Given the description of an element on the screen output the (x, y) to click on. 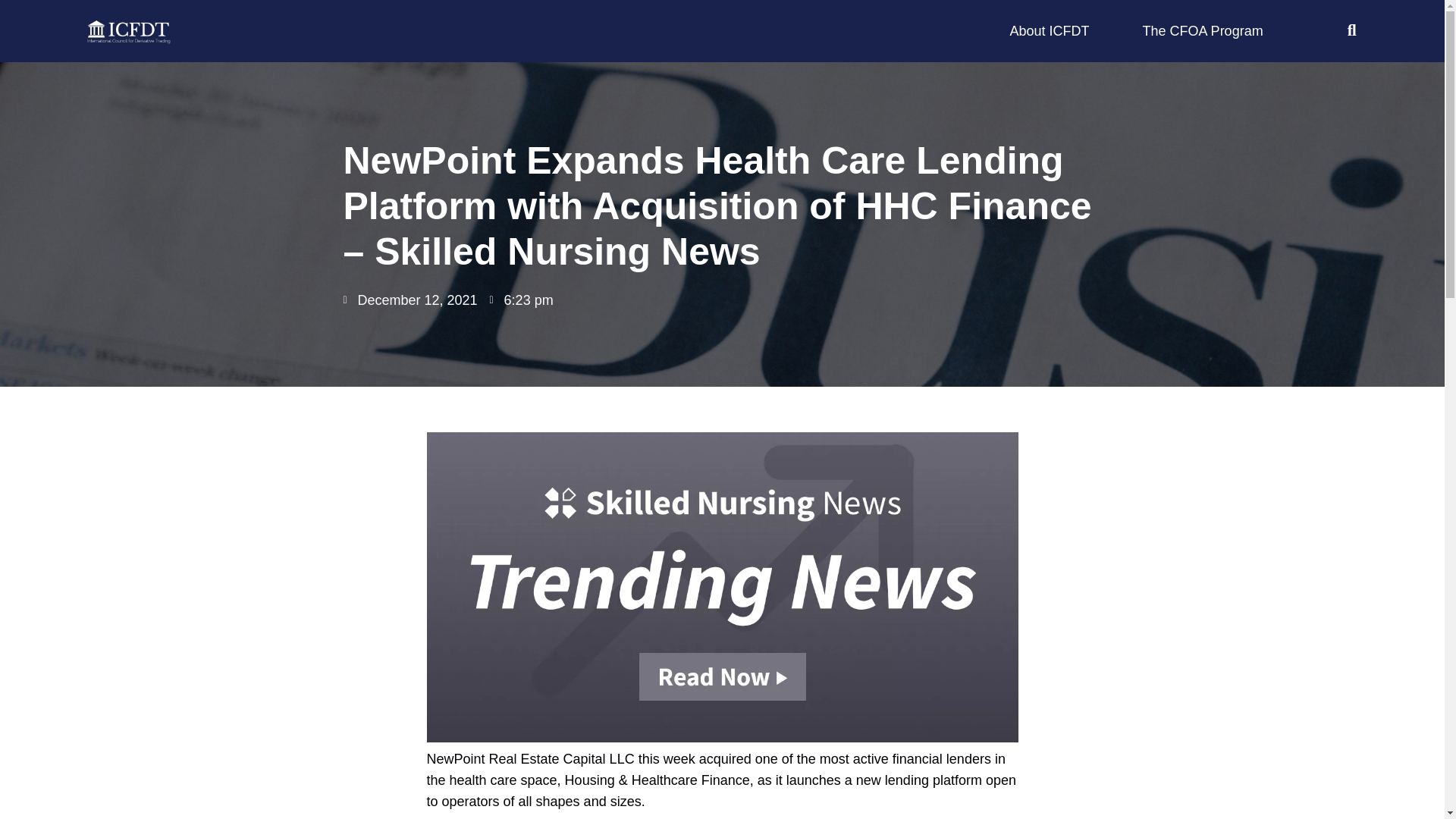
About ICFDT (1049, 30)
The CFOA Program (1202, 30)
December 12, 2021 (409, 300)
